Given the description of an element on the screen output the (x, y) to click on. 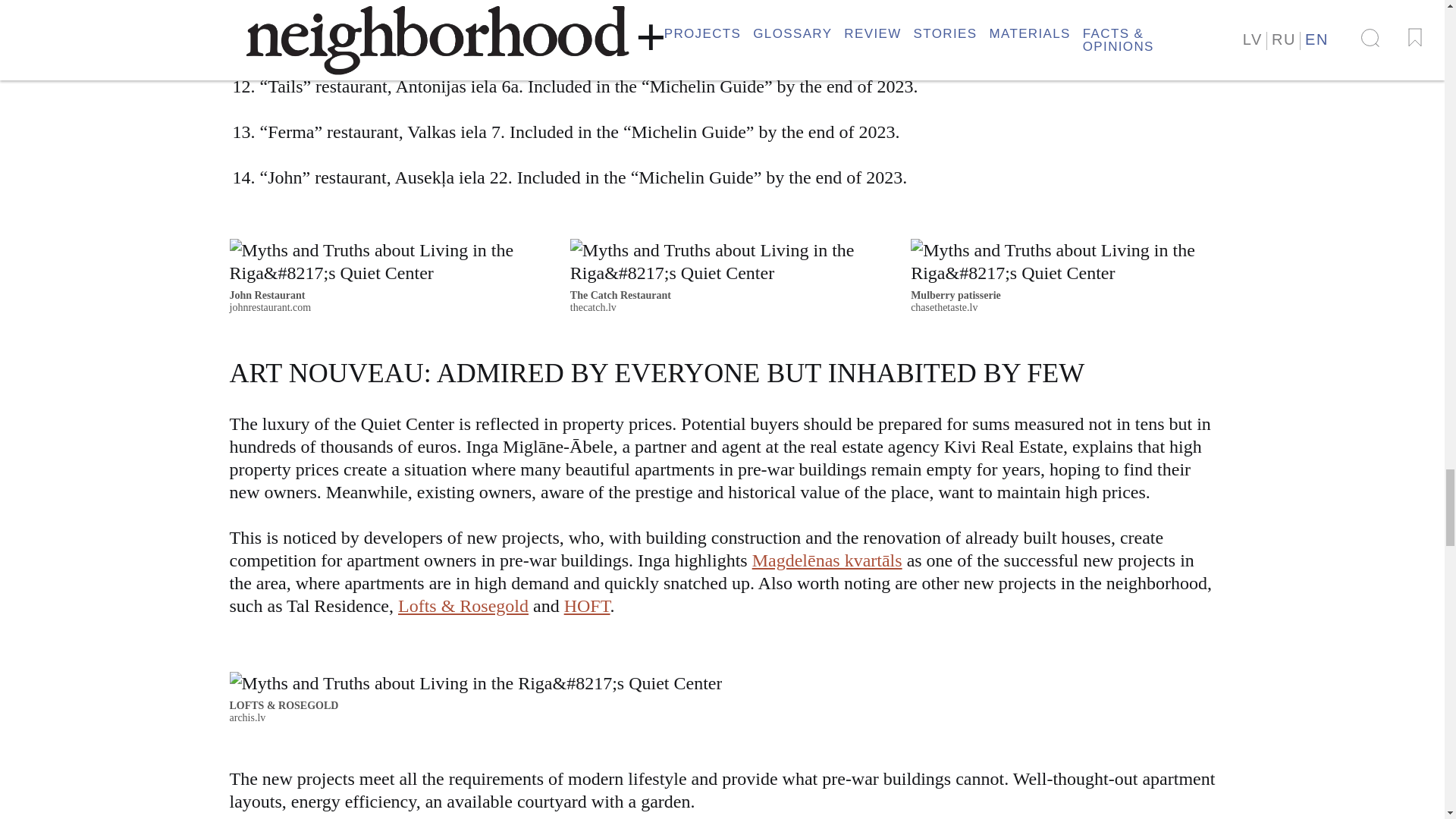
HOFT (587, 605)
